Given the description of an element on the screen output the (x, y) to click on. 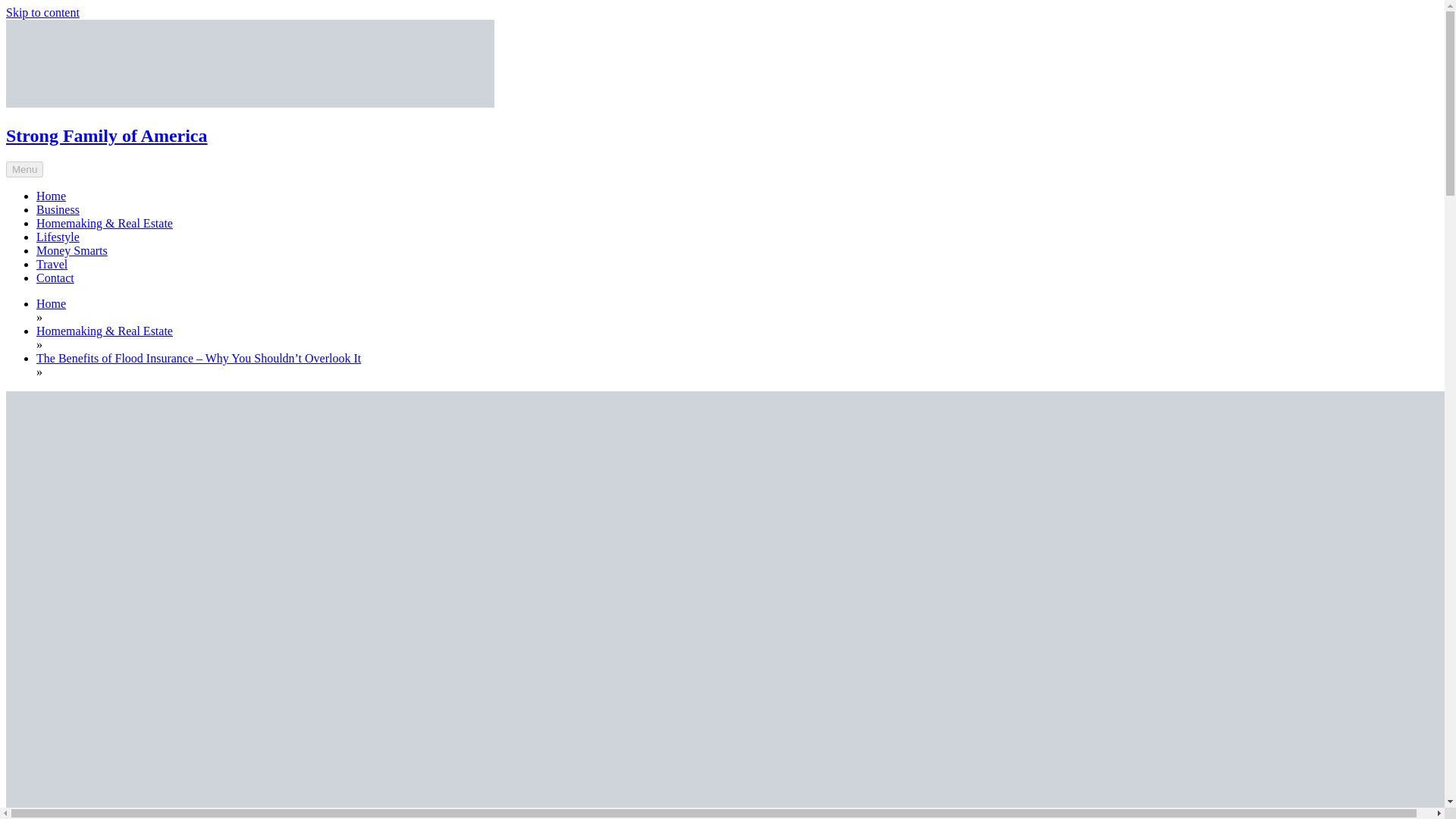
Skip to content (42, 11)
Lifestyle (58, 236)
Travel (51, 264)
Menu (24, 169)
Home (50, 195)
Strong Family of America (106, 135)
Money Smarts (71, 250)
Home (50, 303)
Contact (55, 277)
Business (58, 209)
